Given the description of an element on the screen output the (x, y) to click on. 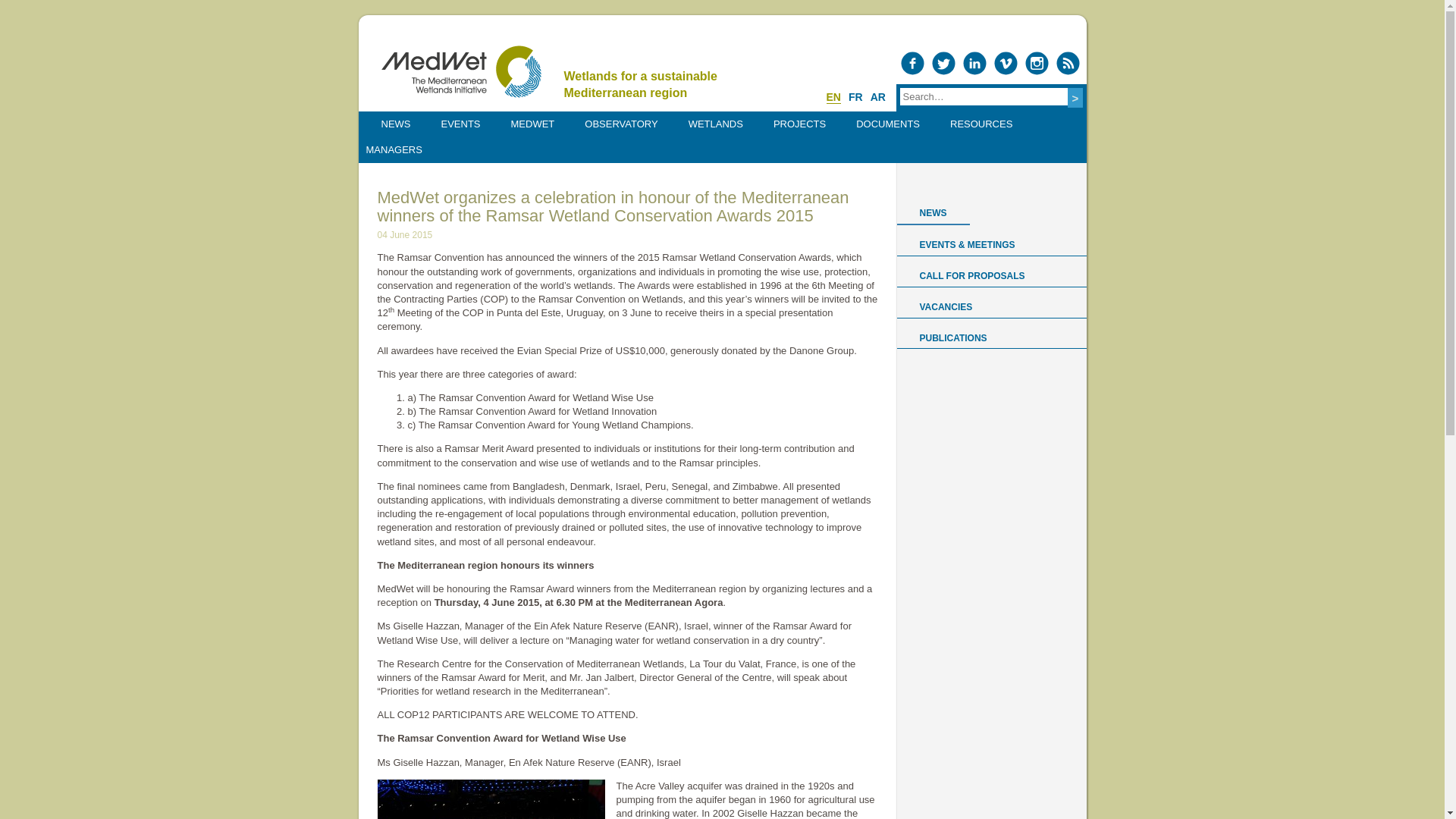
MedWet (460, 71)
MEDWET (532, 124)
MedWet (460, 71)
EVENTS (460, 124)
NEWS (394, 124)
MANAGERS (393, 149)
OBSERVATORY (620, 124)
